Given the description of an element on the screen output the (x, y) to click on. 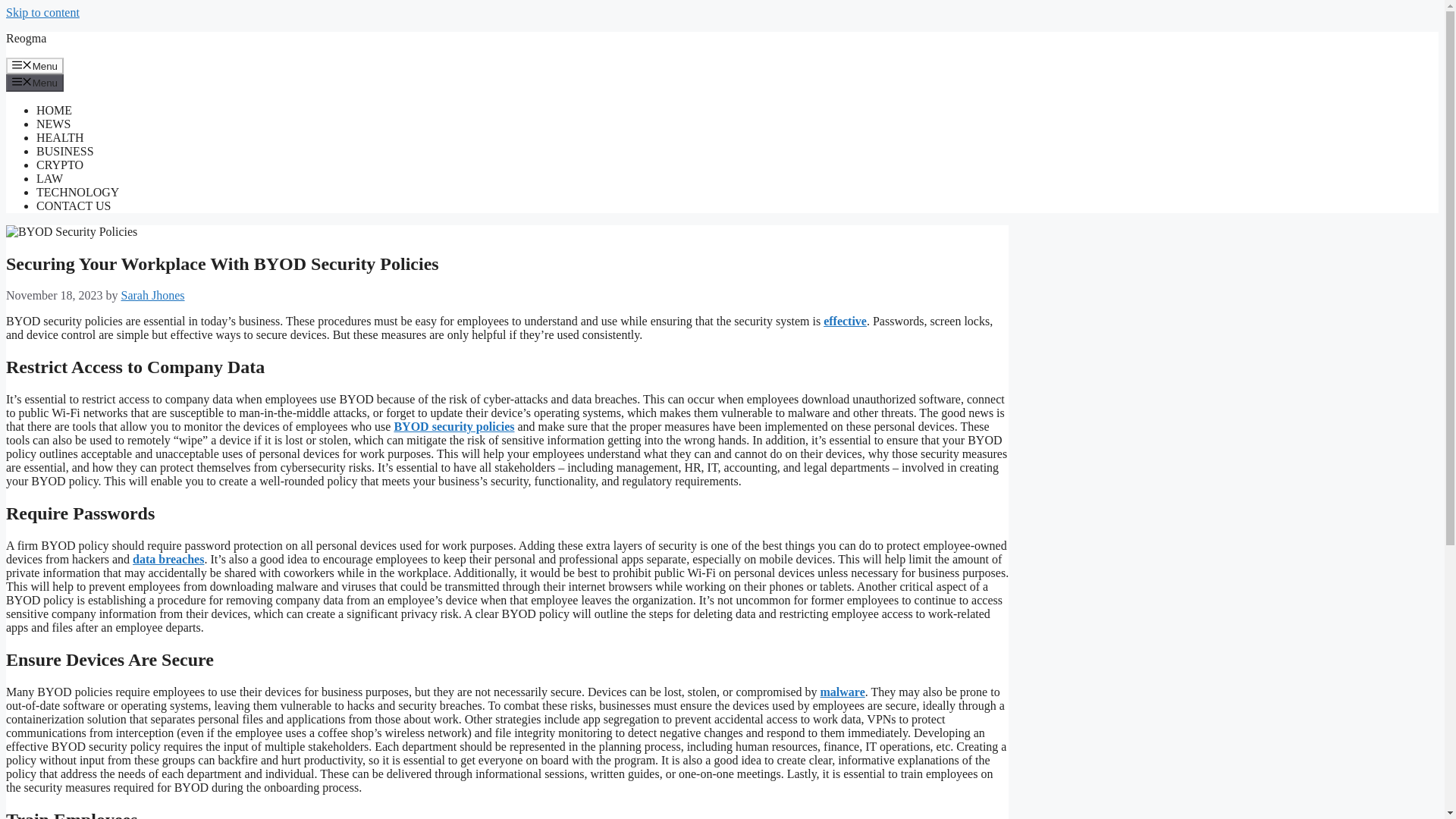
View all posts by Sarah Jhones (152, 295)
Menu (34, 65)
Sarah Jhones (152, 295)
LAW (49, 178)
CONTACT US (73, 205)
effective (845, 320)
CRYPTO (59, 164)
TECHNOLOGY (77, 192)
HEALTH (60, 137)
malware (842, 691)
